Given the description of an element on the screen output the (x, y) to click on. 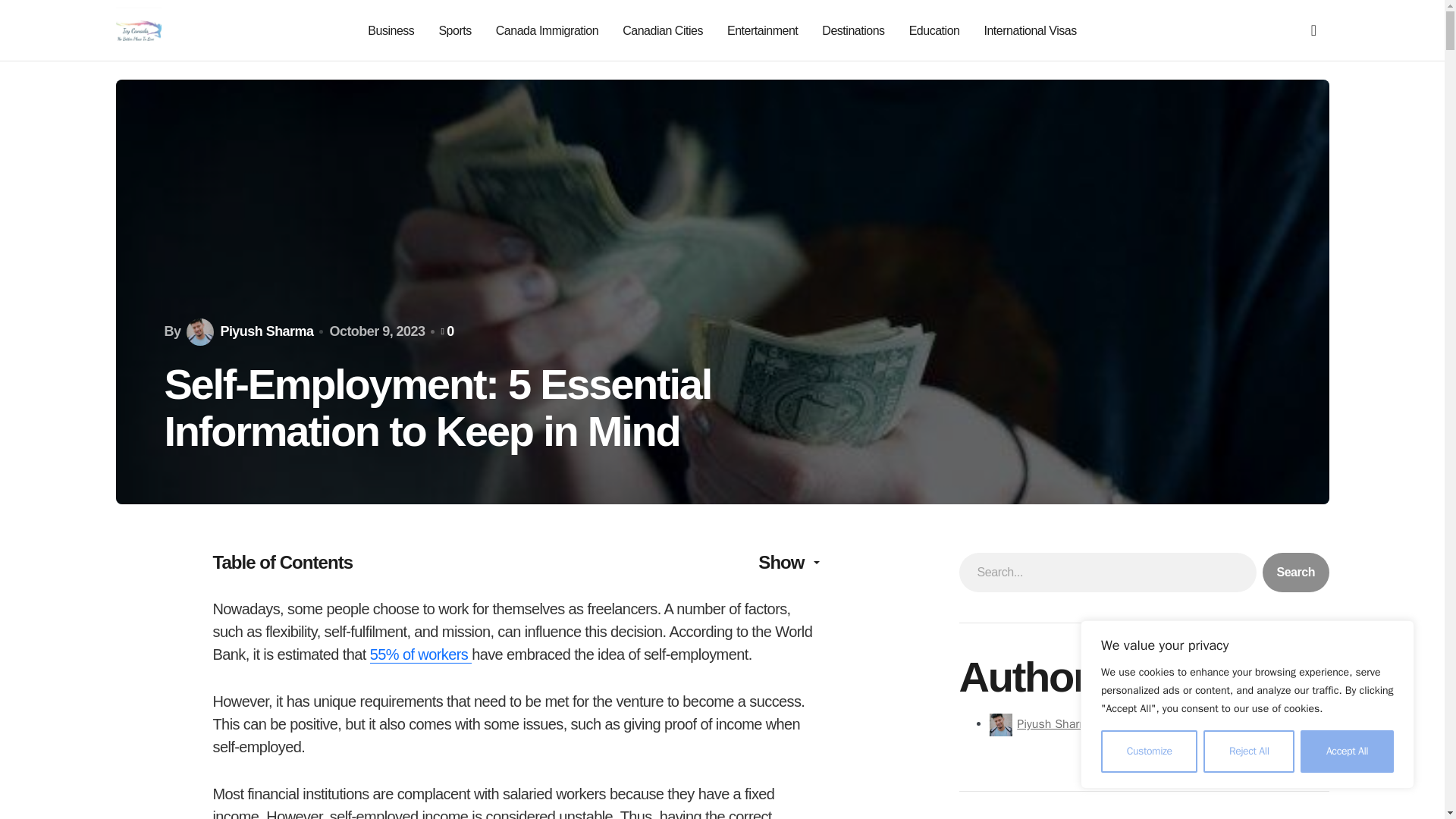
Canada Immigration (547, 30)
Reject All (1249, 751)
Canadian Cities (663, 30)
Customize (1148, 751)
Tahsina Javed (1239, 724)
Accept All (1346, 751)
Entertainment (761, 30)
Piyush Sharma (1056, 724)
Destinations (852, 30)
International Visas (1029, 30)
